Given the description of an element on the screen output the (x, y) to click on. 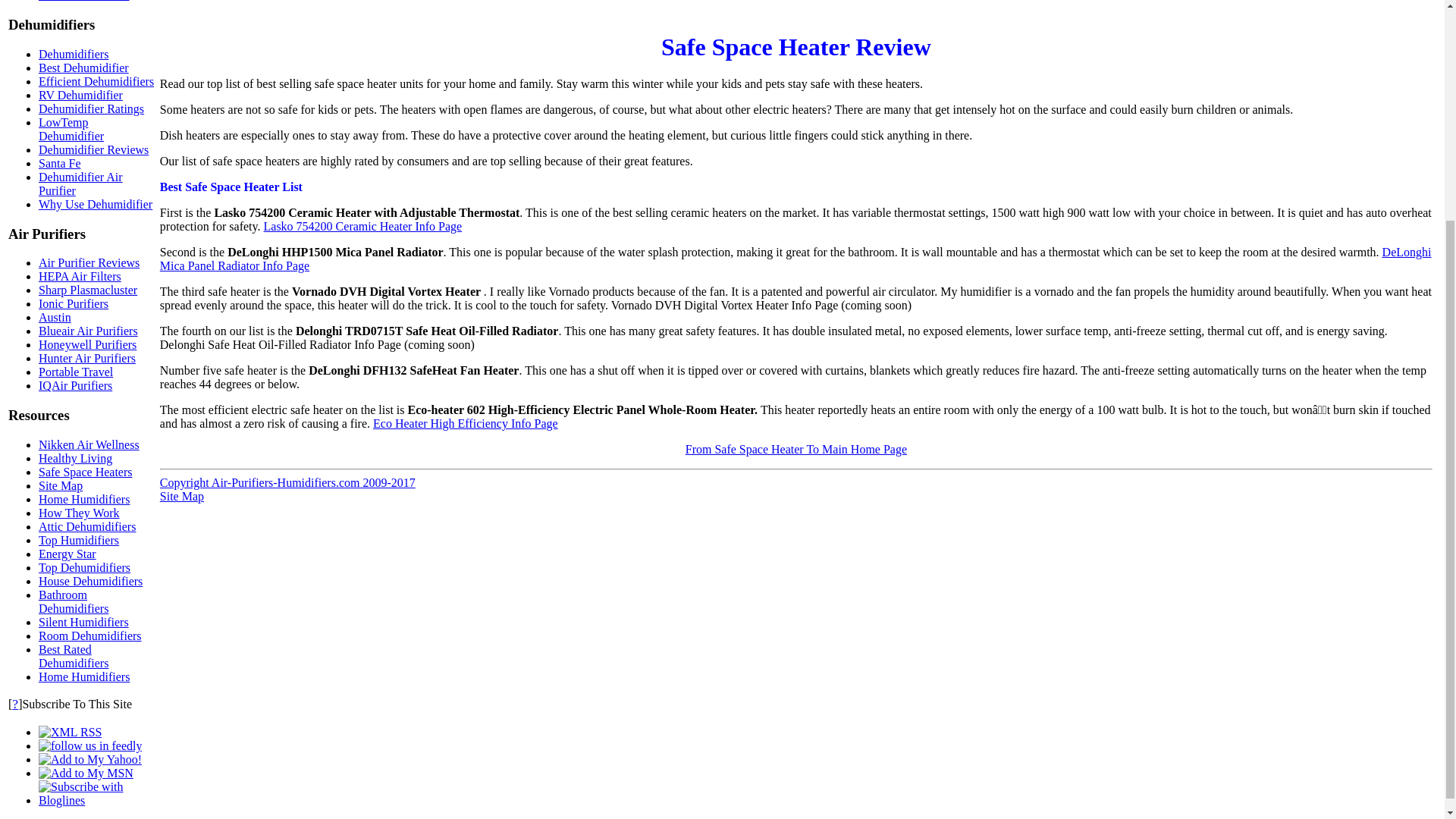
Portable Travel (76, 371)
Efficient Dehumidifiers (96, 81)
Santa Fe (60, 163)
Best Dehumidifier (84, 67)
RV Dehumidifier (80, 94)
IQAir Purifiers (75, 385)
Blueair Air Purifiers (88, 330)
HEPA Air Filters (79, 276)
Dehumidifier Reviews (93, 149)
Dehumidifiers (73, 53)
Site Map (60, 485)
Healthy Living (75, 458)
Nikken Air Wellness (89, 444)
Safe Space Heaters (85, 472)
Ionic Purifiers (73, 303)
